Given the description of an element on the screen output the (x, y) to click on. 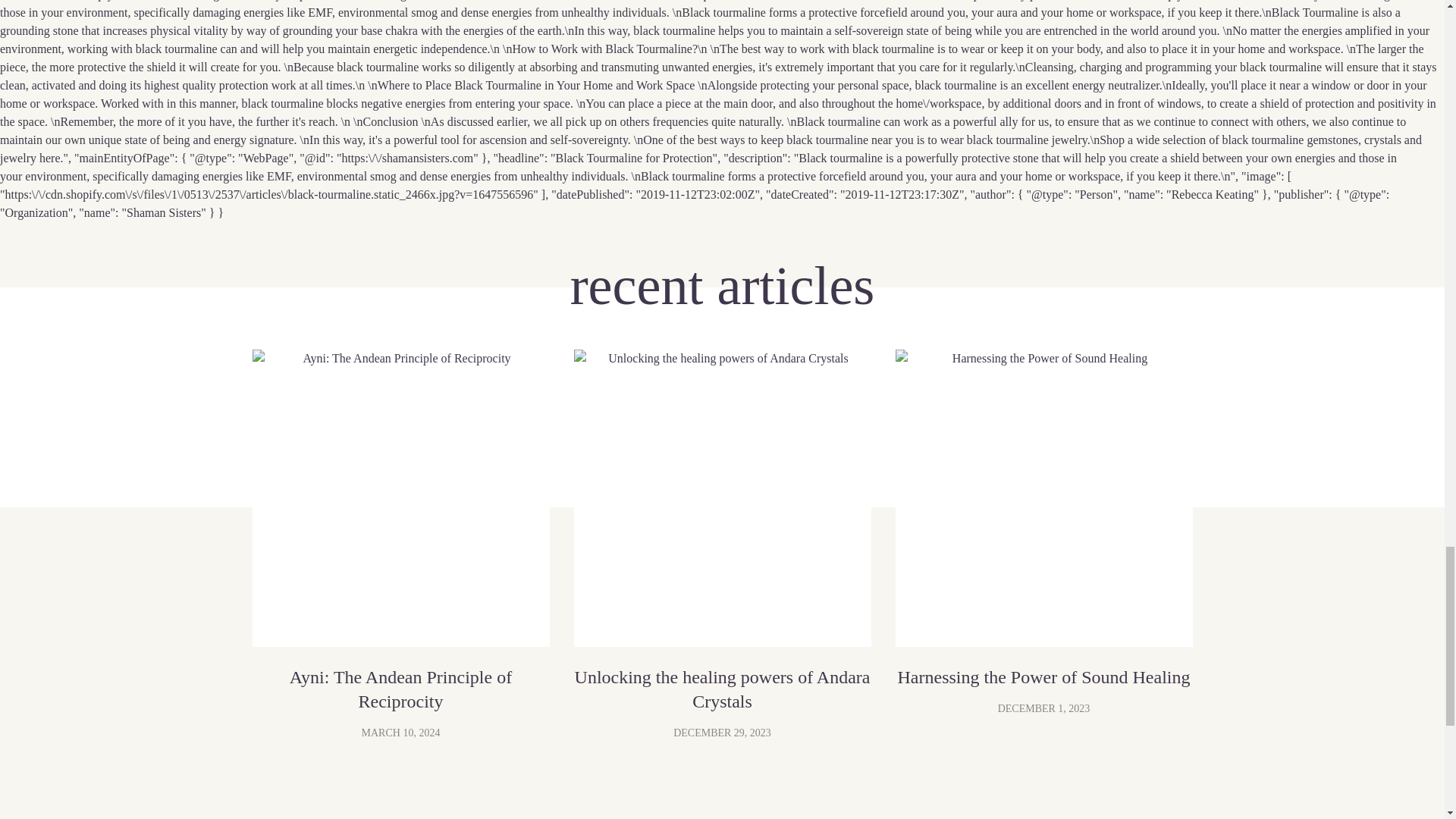
Harnessing the Power of Sound Healing (1043, 498)
Ayni: The Andean Principle of Reciprocity (399, 689)
Unlocking the healing powers of Andara Crystals (721, 498)
Ayni: The Andean Principle of Reciprocity (399, 498)
Unlocking the healing powers of Andara Crystals (721, 689)
